Given the description of an element on the screen output the (x, y) to click on. 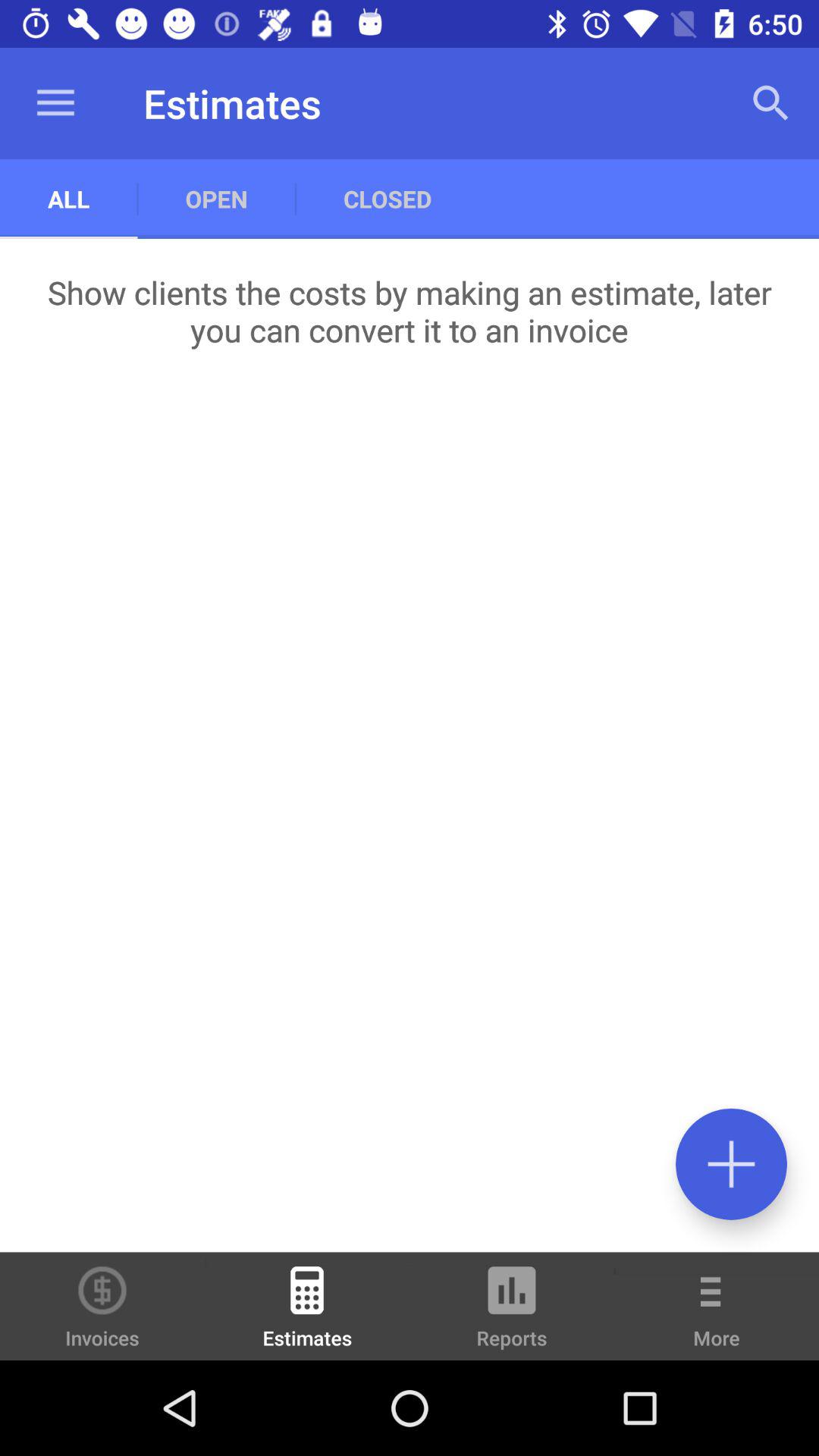
select the item above the show clients the icon (387, 198)
